Given the description of an element on the screen output the (x, y) to click on. 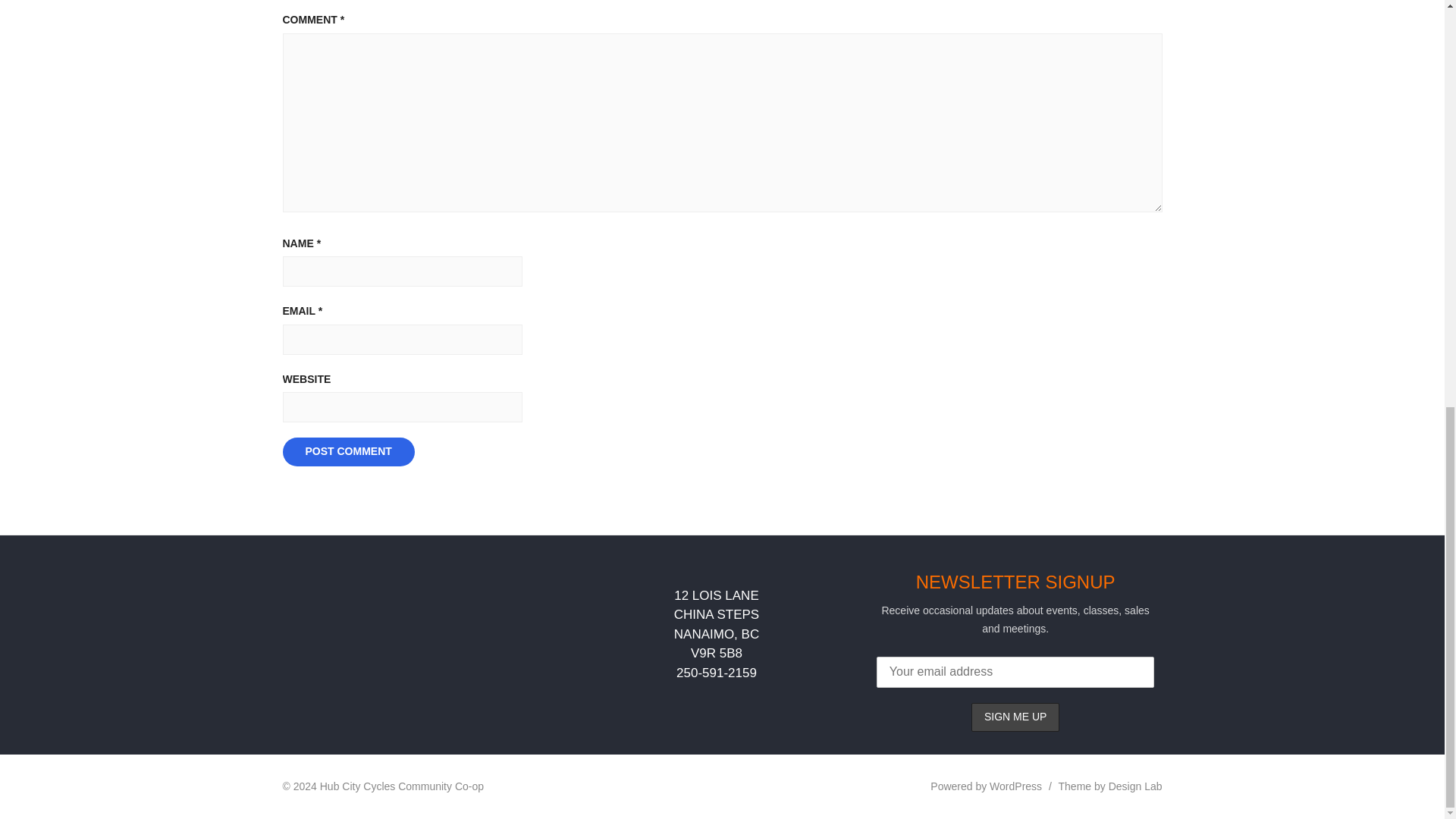
Post Comment (347, 451)
Sign Me up (1015, 717)
Sign Me up (1015, 717)
Post Comment (347, 451)
Powered by WordPress (986, 786)
